Given the description of an element on the screen output the (x, y) to click on. 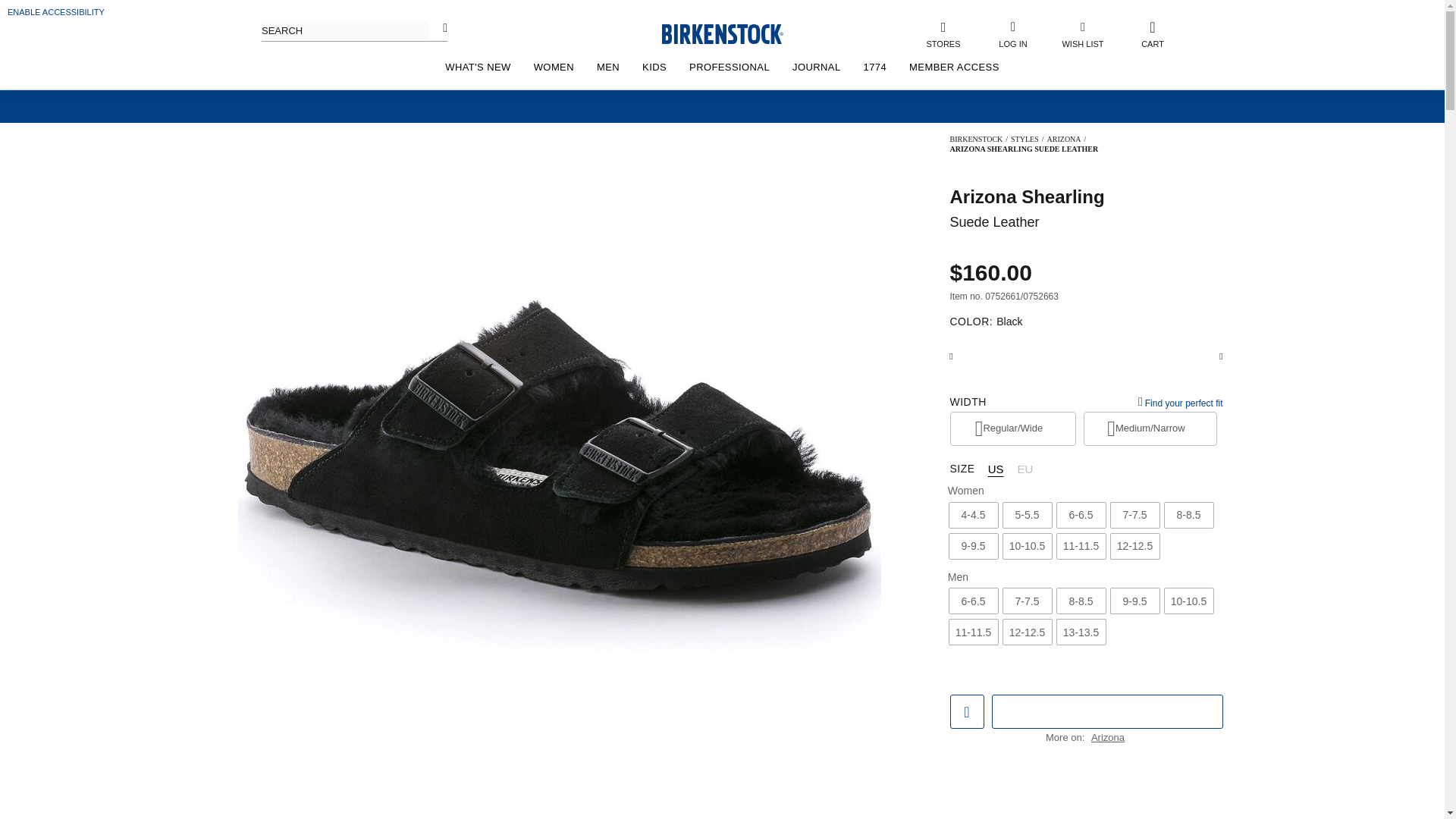
My information (1012, 33)
CART (1152, 33)
STORES (942, 33)
Log in (1033, 283)
ENABLE ACCESSIBILITY (55, 11)
Show shopping cart (1152, 33)
WISH LIST (1082, 33)
WHAT'S NEW (478, 67)
Display wishlist (1082, 33)
LOG IN (1012, 33)
